Given the description of an element on the screen output the (x, y) to click on. 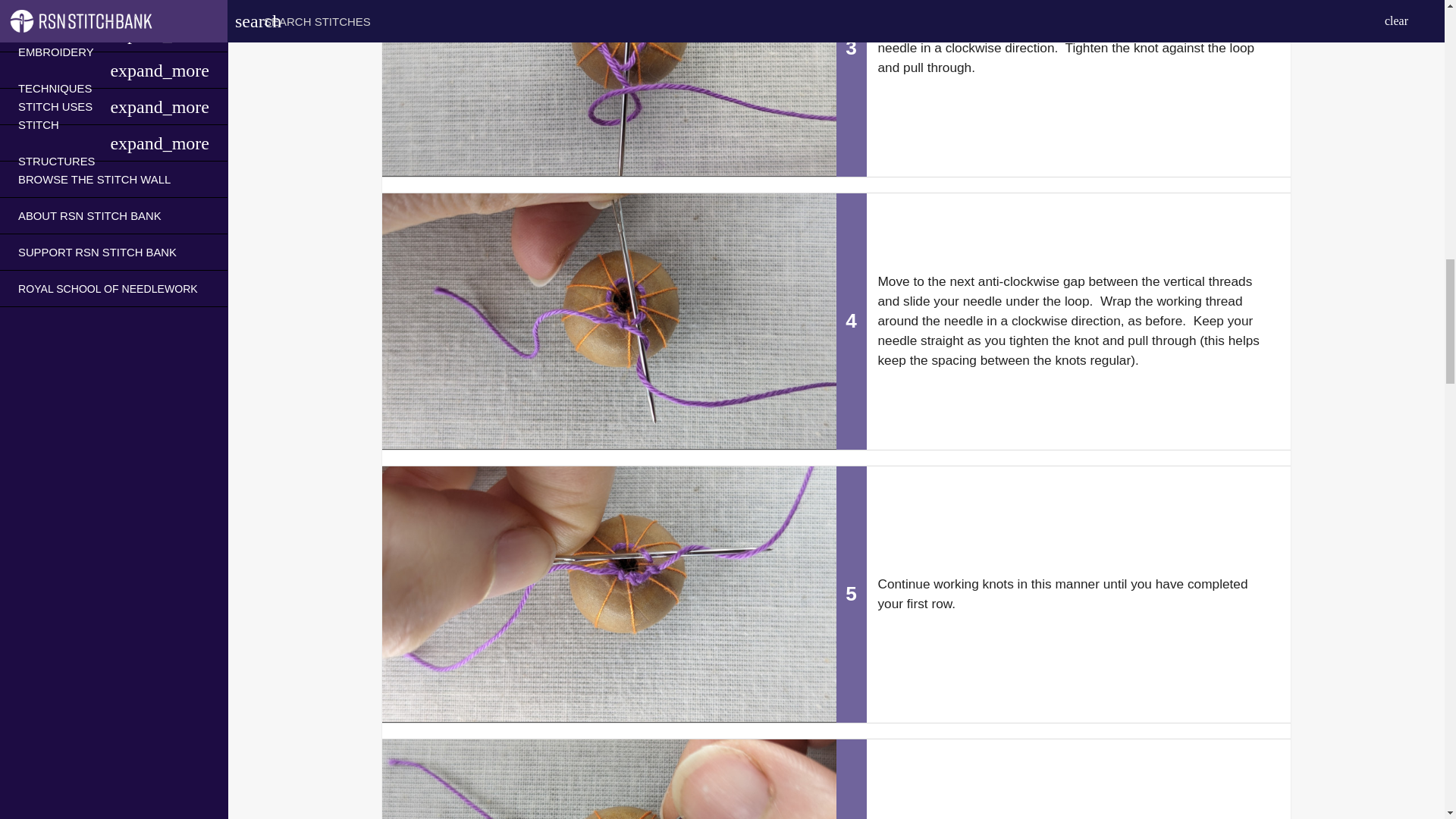
Ball stitch method stage 4 (608, 320)
Ball stitch method stage 3 (608, 88)
Ball stitch method stage 5 (608, 593)
Ball stitch method stage 6 (608, 779)
